Given the description of an element on the screen output the (x, y) to click on. 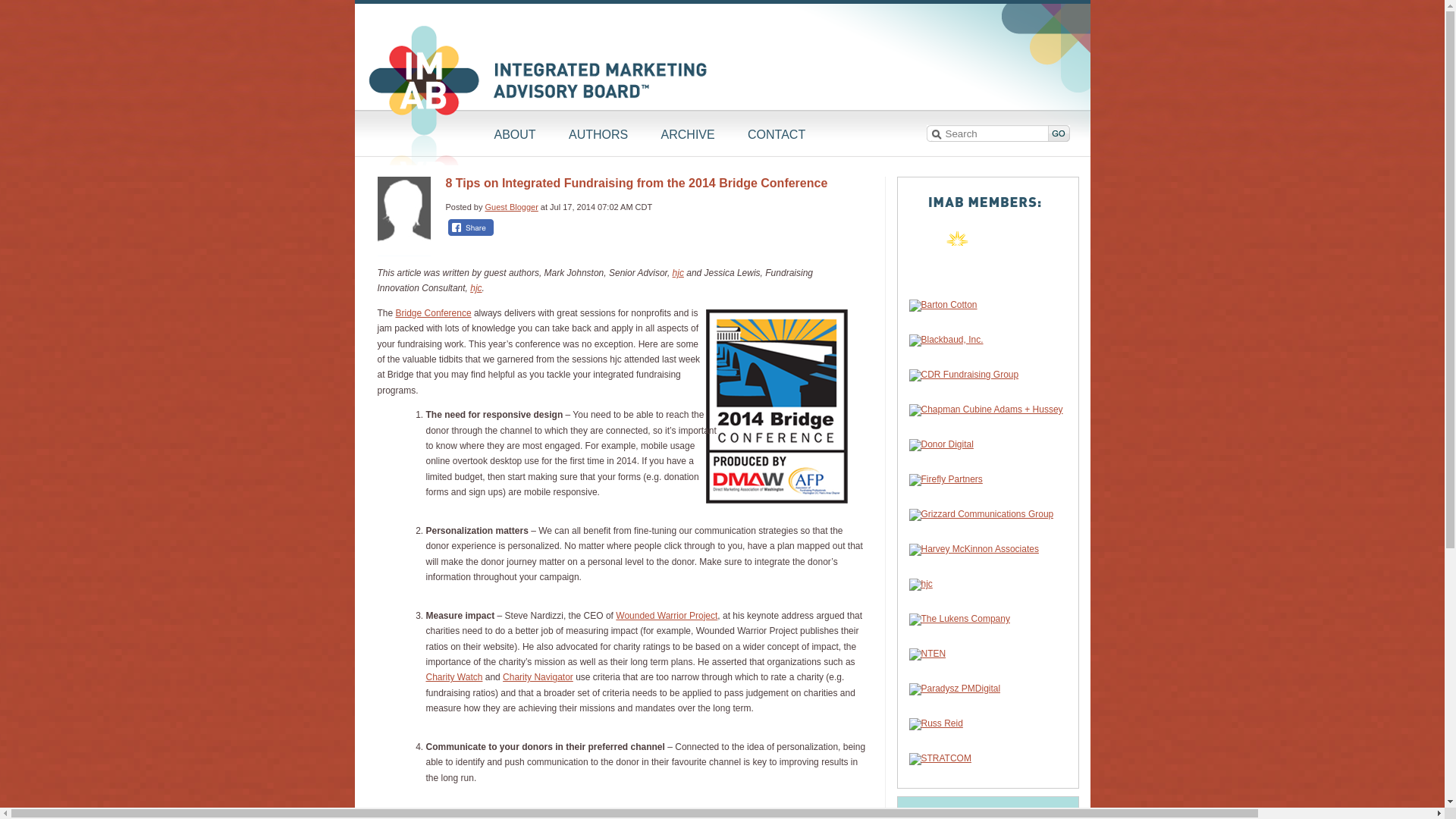
Search (1059, 133)
hjc (678, 272)
CONTACT (776, 134)
ARCHIVE (687, 134)
Guest Blogger (510, 205)
Wounded Warrior Project (666, 615)
Bridge Conference (433, 312)
Charity Watch (454, 676)
Search (987, 133)
ABOUT (515, 134)
Charity Navigator (537, 676)
AUTHORS (598, 134)
hjc (475, 287)
